Given the description of an element on the screen output the (x, y) to click on. 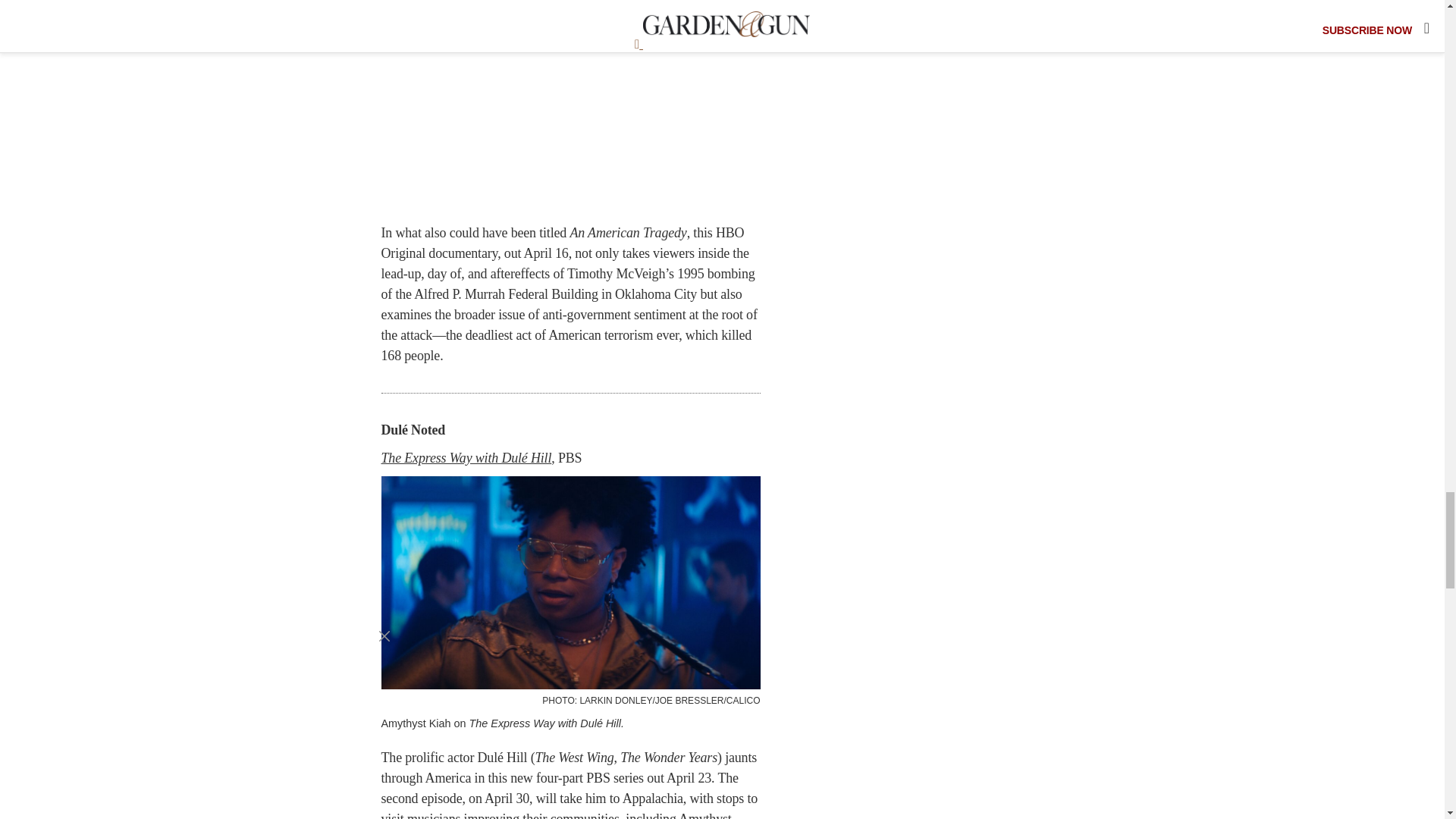
YouTube video player (570, 105)
